Given the description of an element on the screen output the (x, y) to click on. 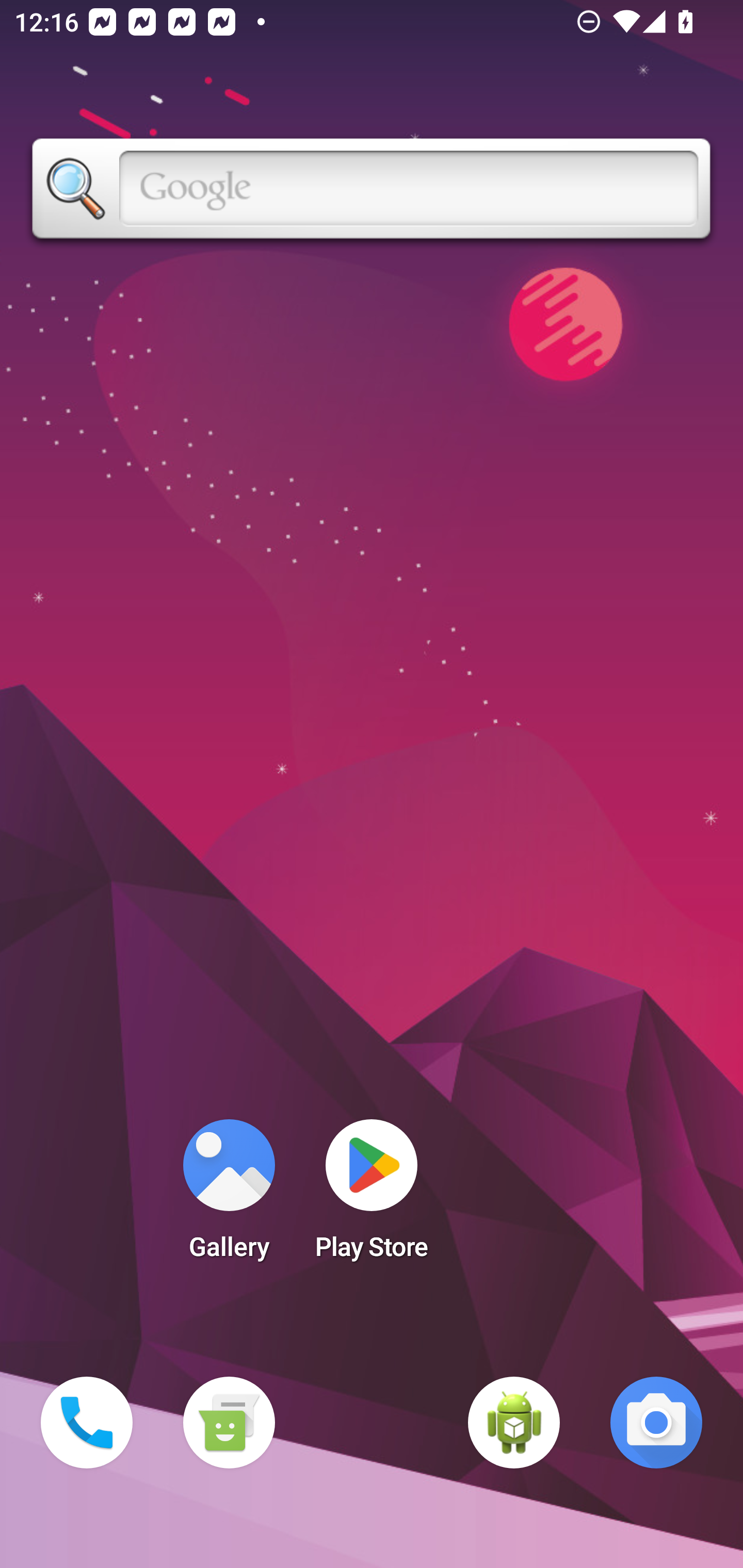
Gallery (228, 1195)
Play Store (371, 1195)
Phone (86, 1422)
Messaging (228, 1422)
WebView Browser Tester (513, 1422)
Camera (656, 1422)
